Given the description of an element on the screen output the (x, y) to click on. 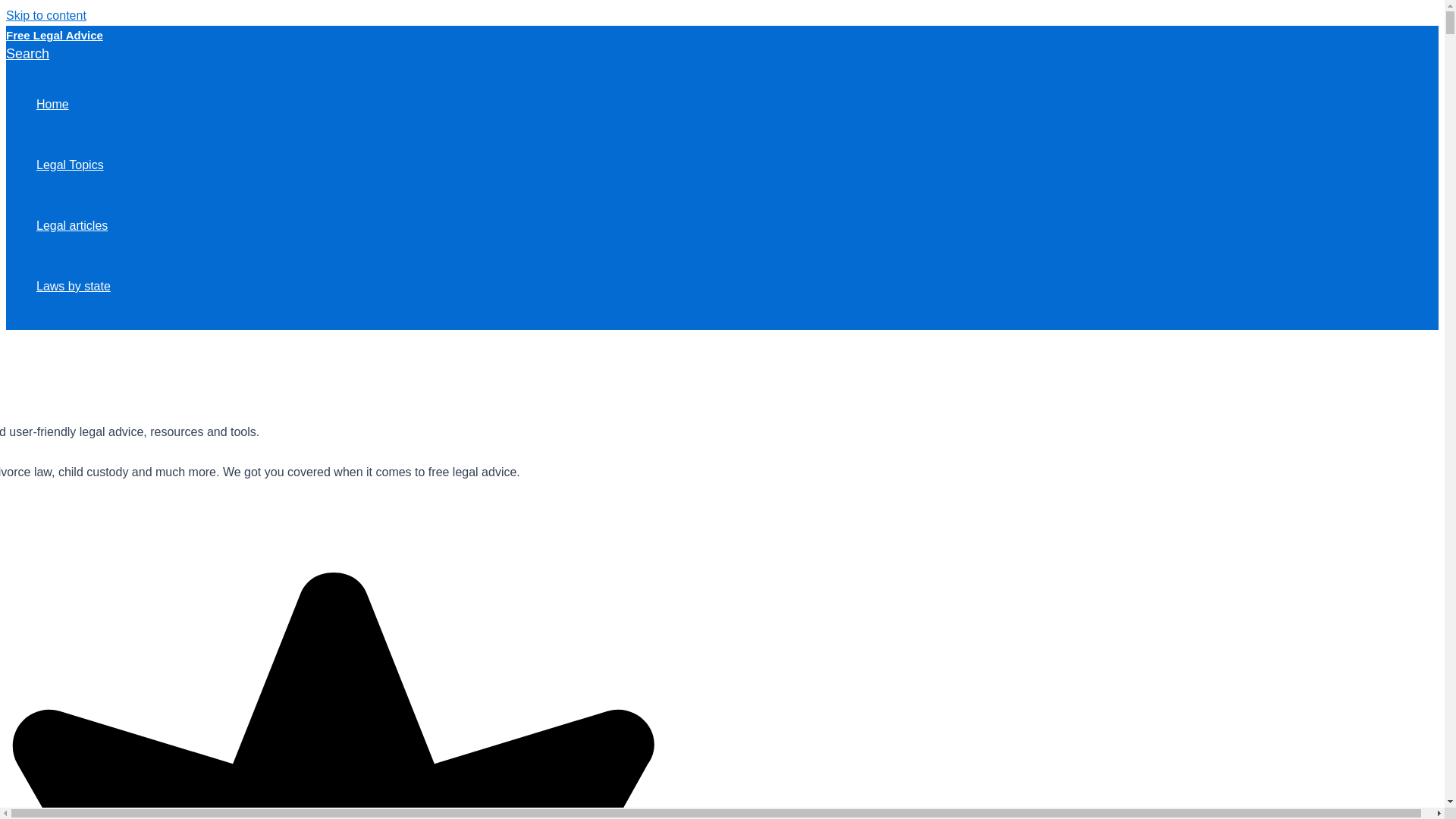
Skip to content (45, 15)
Free Legal Advice (54, 34)
Home (73, 104)
Laws by state (73, 286)
Skip to content (45, 15)
Legal Topics (73, 165)
Legal articles (73, 225)
Search (27, 53)
